Given the description of an element on the screen output the (x, y) to click on. 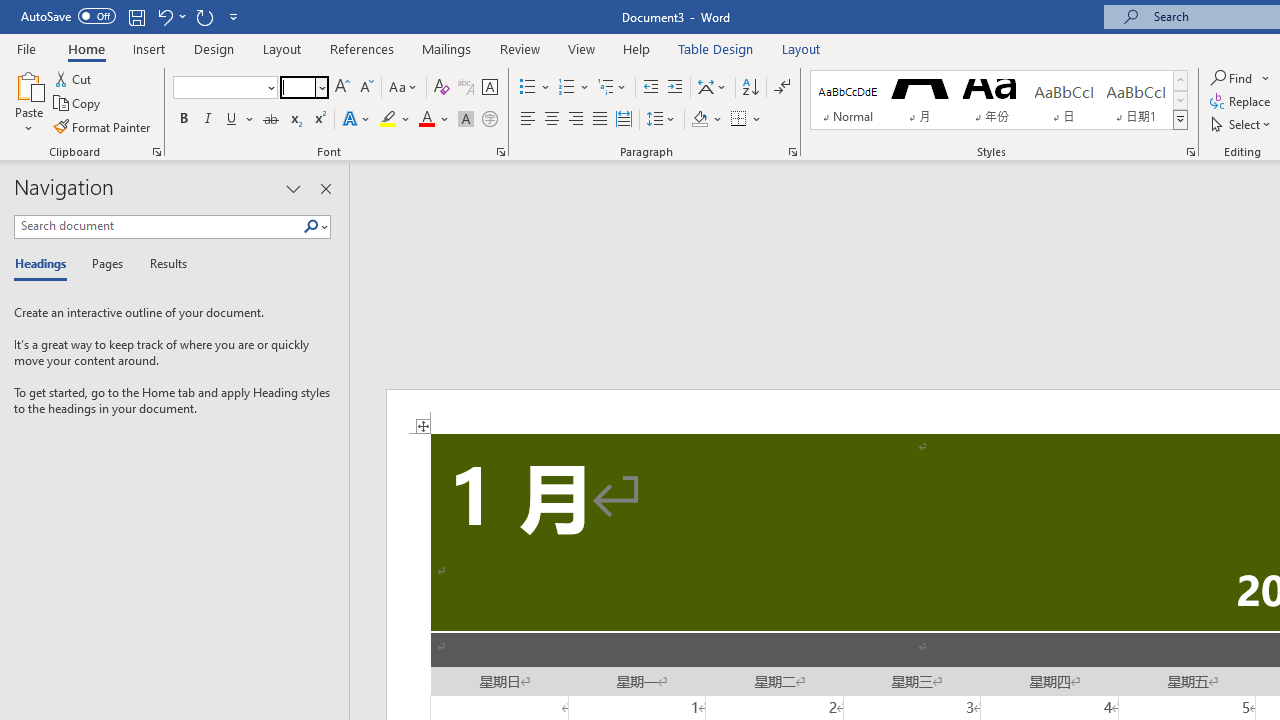
Undo Apply Quick Style (170, 15)
Font Color RGB(255, 0, 0) (426, 119)
